Given the description of an element on the screen output the (x, y) to click on. 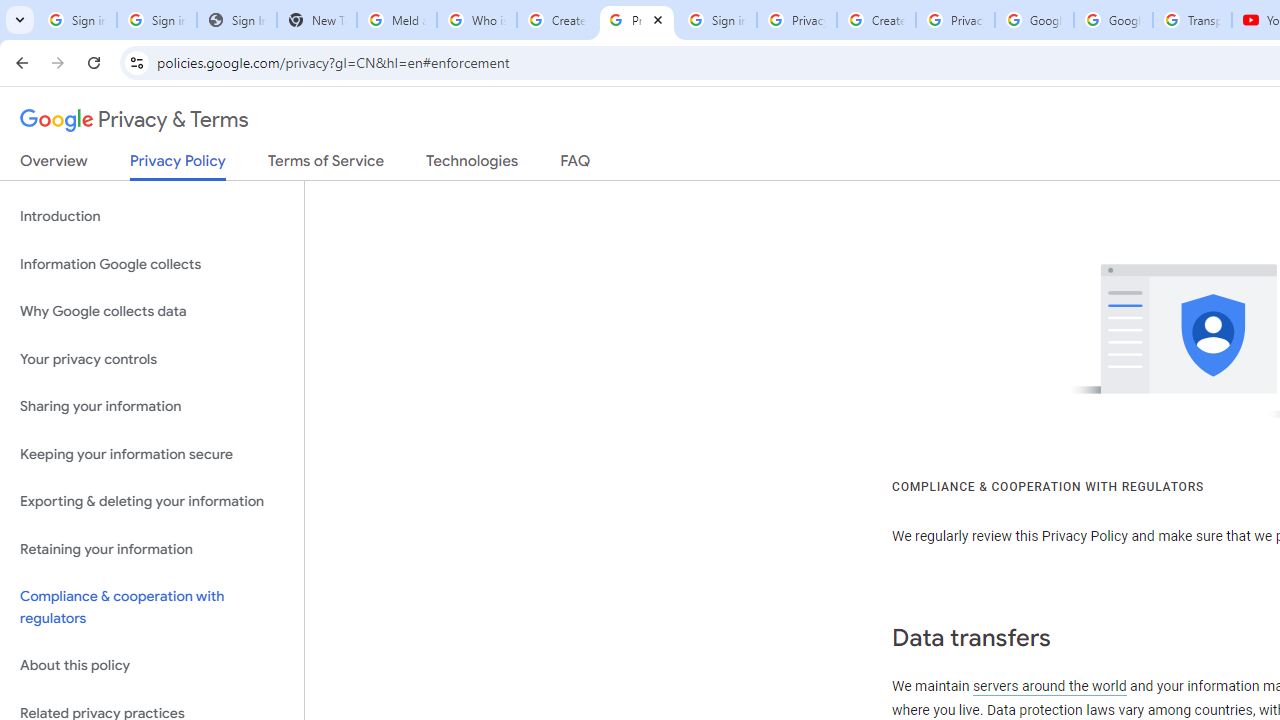
About this policy (152, 666)
Create your Google Account (556, 20)
Exporting & deleting your information (152, 502)
